Given the description of an element on the screen output the (x, y) to click on. 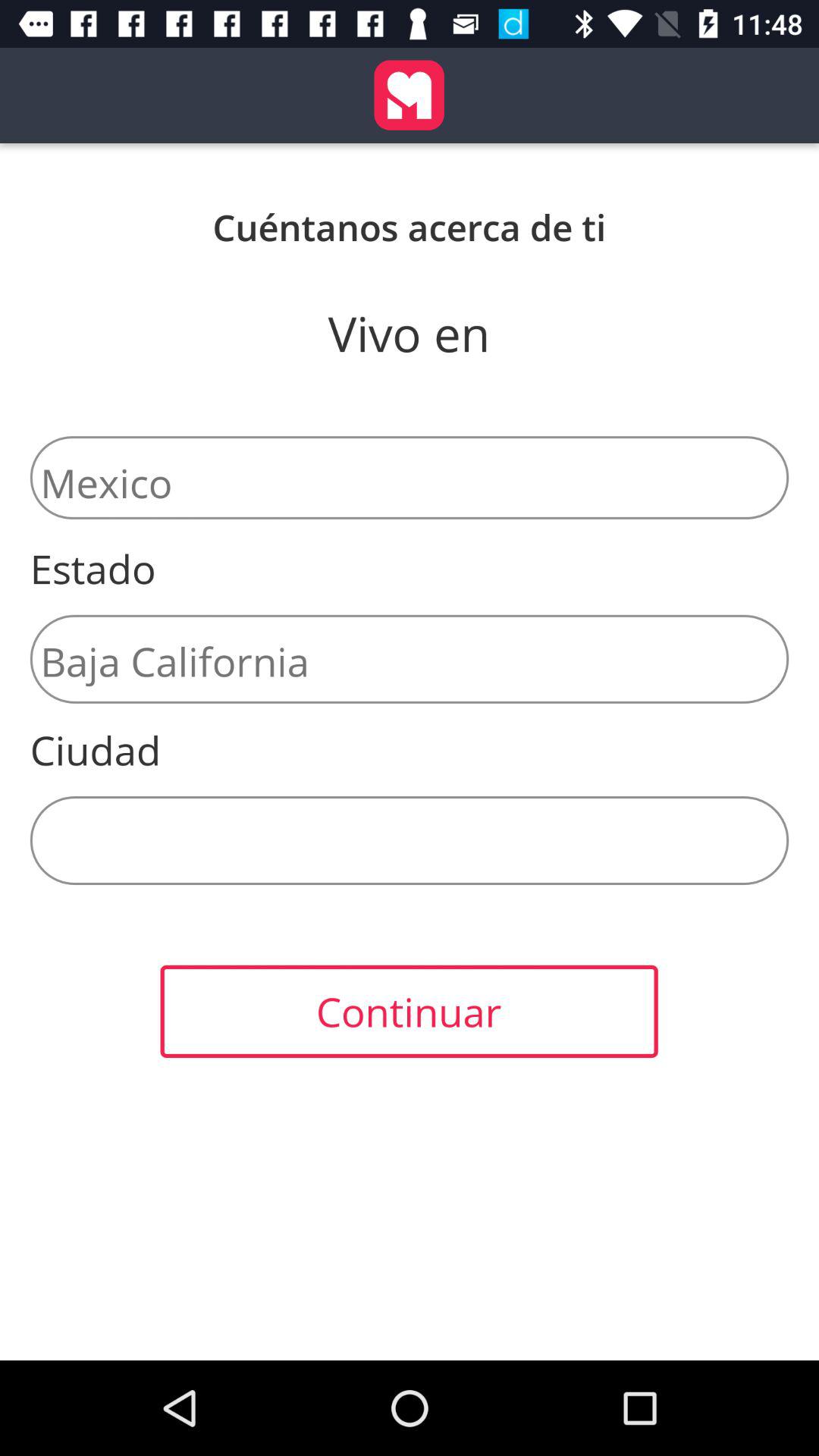
press the baja california icon (409, 658)
